Given the description of an element on the screen output the (x, y) to click on. 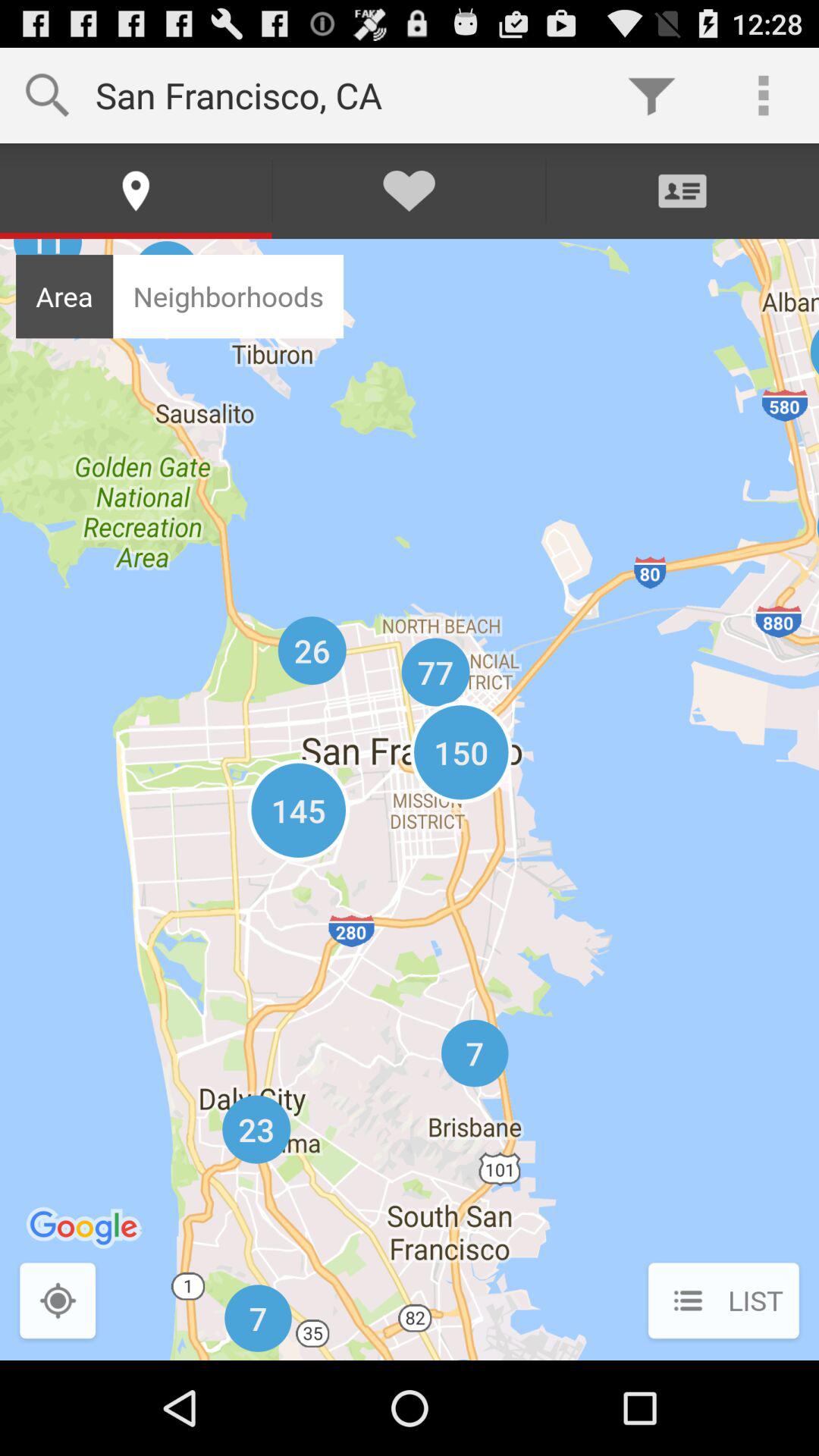
jump to area item (64, 296)
